Given the description of an element on the screen output the (x, y) to click on. 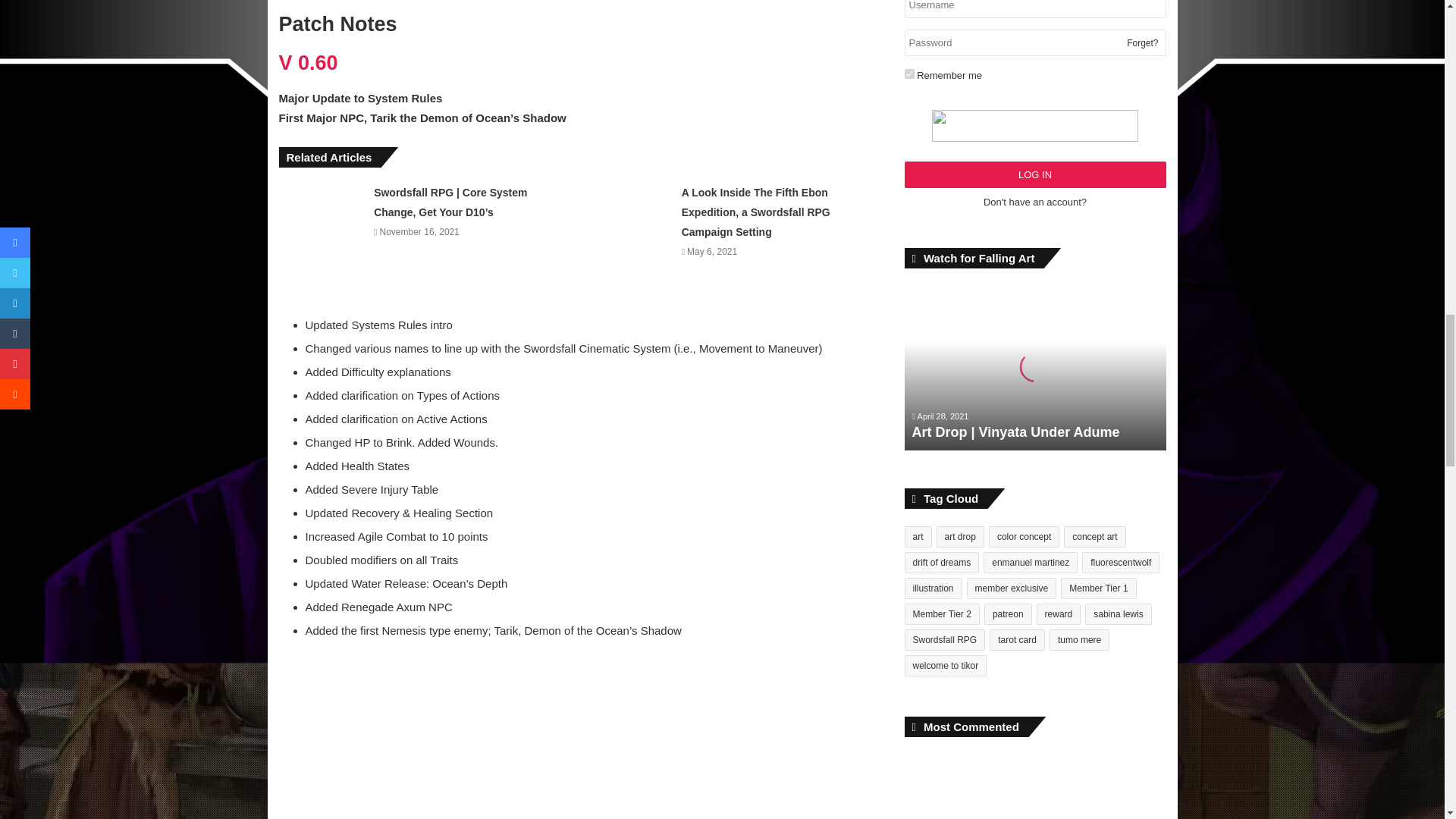
forever (909, 73)
